Given the description of an element on the screen output the (x, y) to click on. 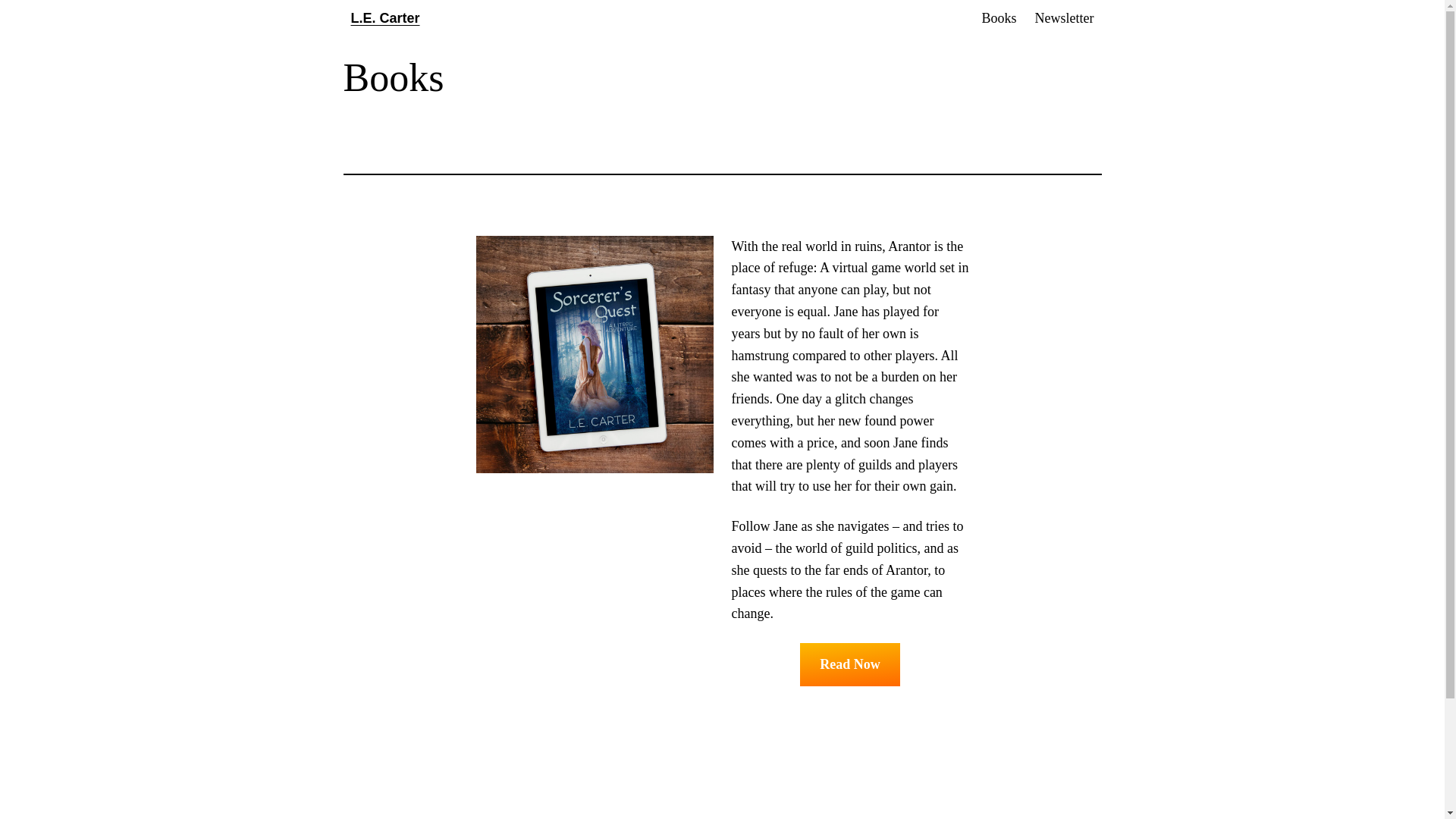
Newsletter (1064, 18)
Books (998, 18)
Read Now (849, 664)
L.E. Carter (384, 17)
